Given the description of an element on the screen output the (x, y) to click on. 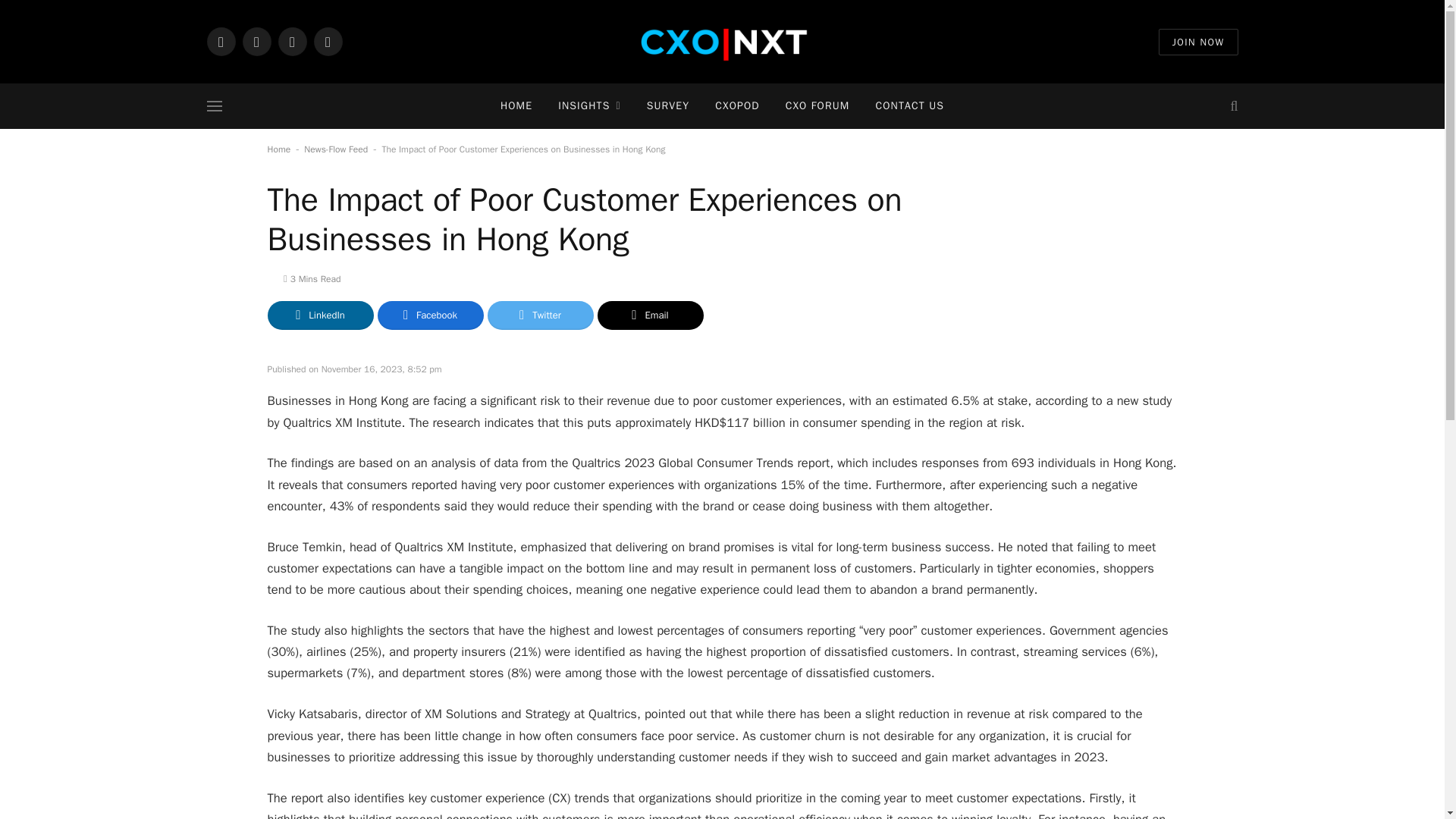
Facebook (291, 41)
INSIGHTS (588, 105)
JOIN NOW (1198, 41)
HOME (515, 105)
LinkedIn (220, 41)
YouTube (328, 41)
